Given the description of an element on the screen output the (x, y) to click on. 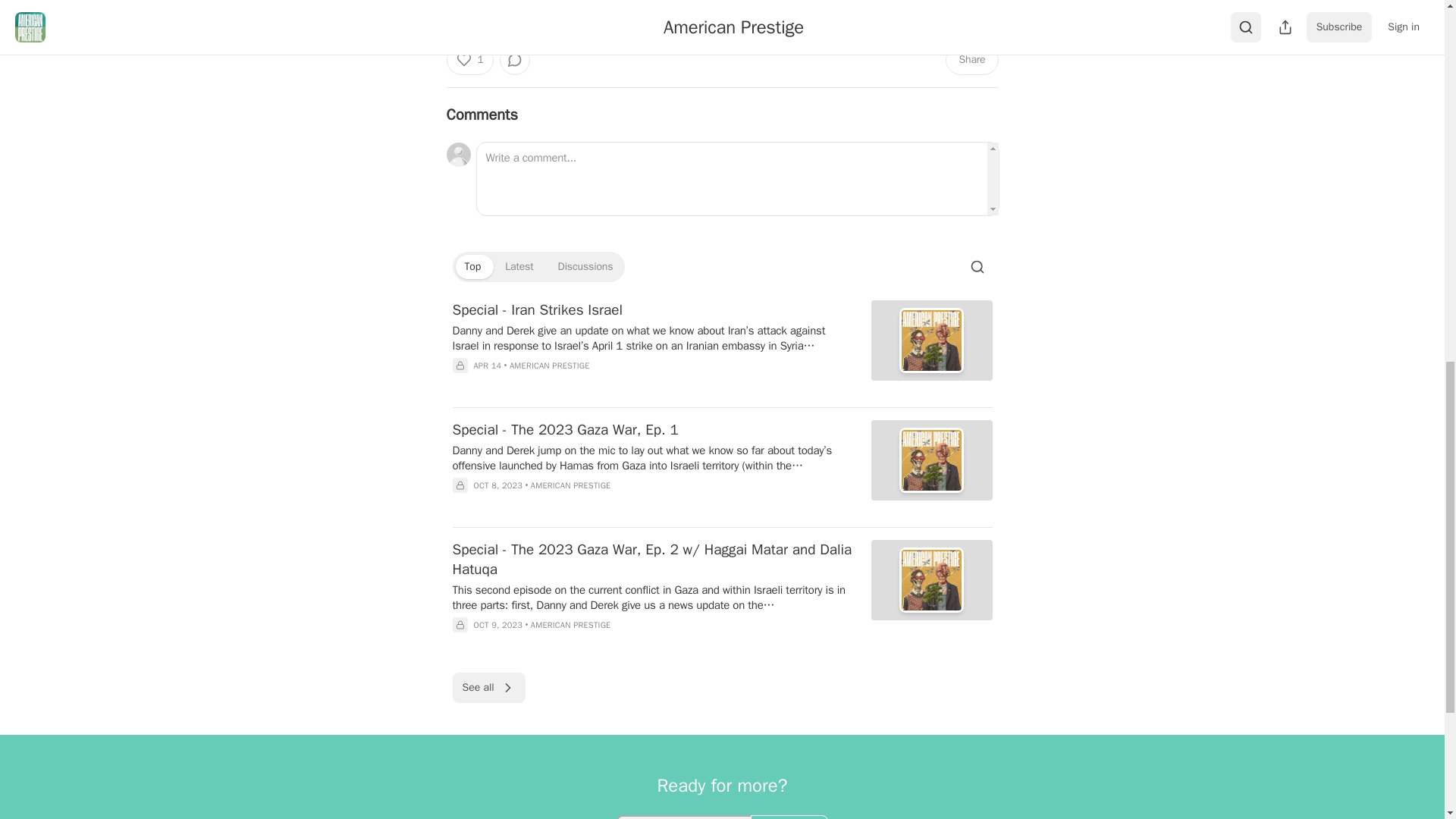
1 (469, 60)
1 Like (500, 5)
